Given the description of an element on the screen output the (x, y) to click on. 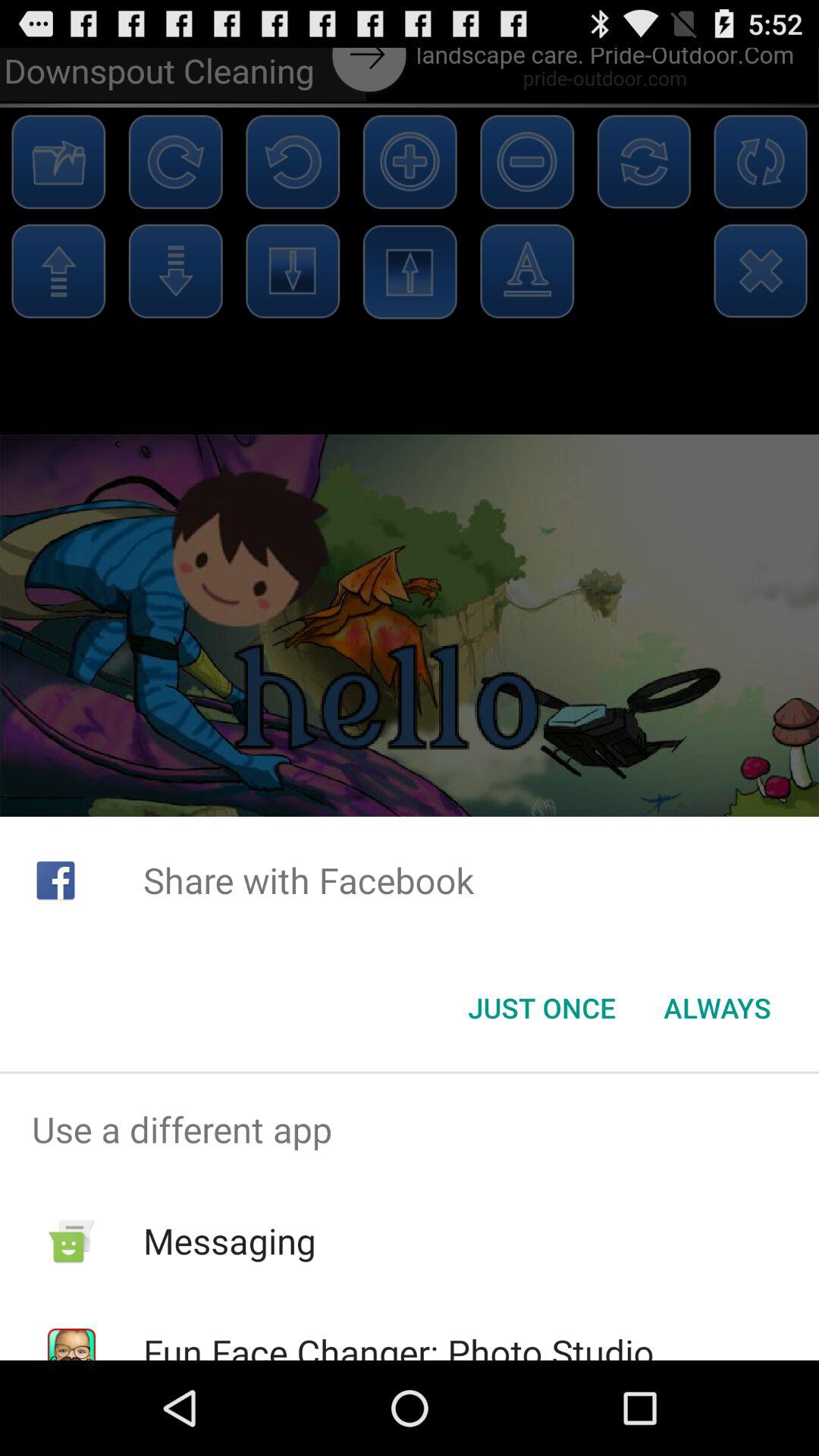
scroll to the just once (541, 1007)
